Given the description of an element on the screen output the (x, y) to click on. 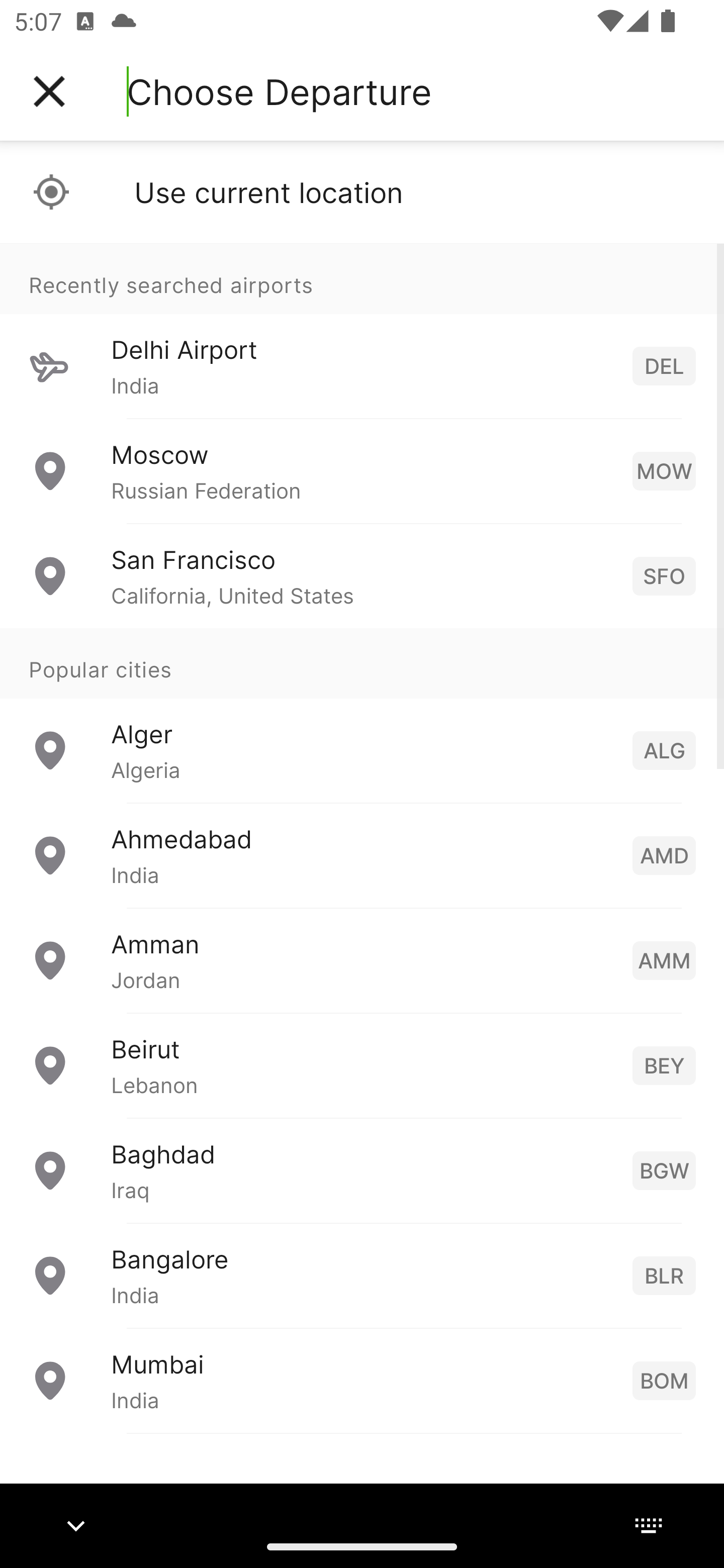
Choose Departure (279, 91)
Use current location (362, 192)
Recently searched airports Delhi Airport India DEL (362, 330)
Recently searched airports (362, 278)
Moscow Russian Federation MOW (362, 470)
San Francisco California, United States SFO (362, 575)
Popular cities Alger Algeria ALG (362, 715)
Popular cities (362, 663)
Ahmedabad India AMD (362, 854)
Amman Jordan AMM (362, 959)
Beirut Lebanon BEY (362, 1064)
Baghdad Iraq BGW (362, 1170)
Bangalore India BLR (362, 1275)
Mumbai India BOM (362, 1380)
